Given the description of an element on the screen output the (x, y) to click on. 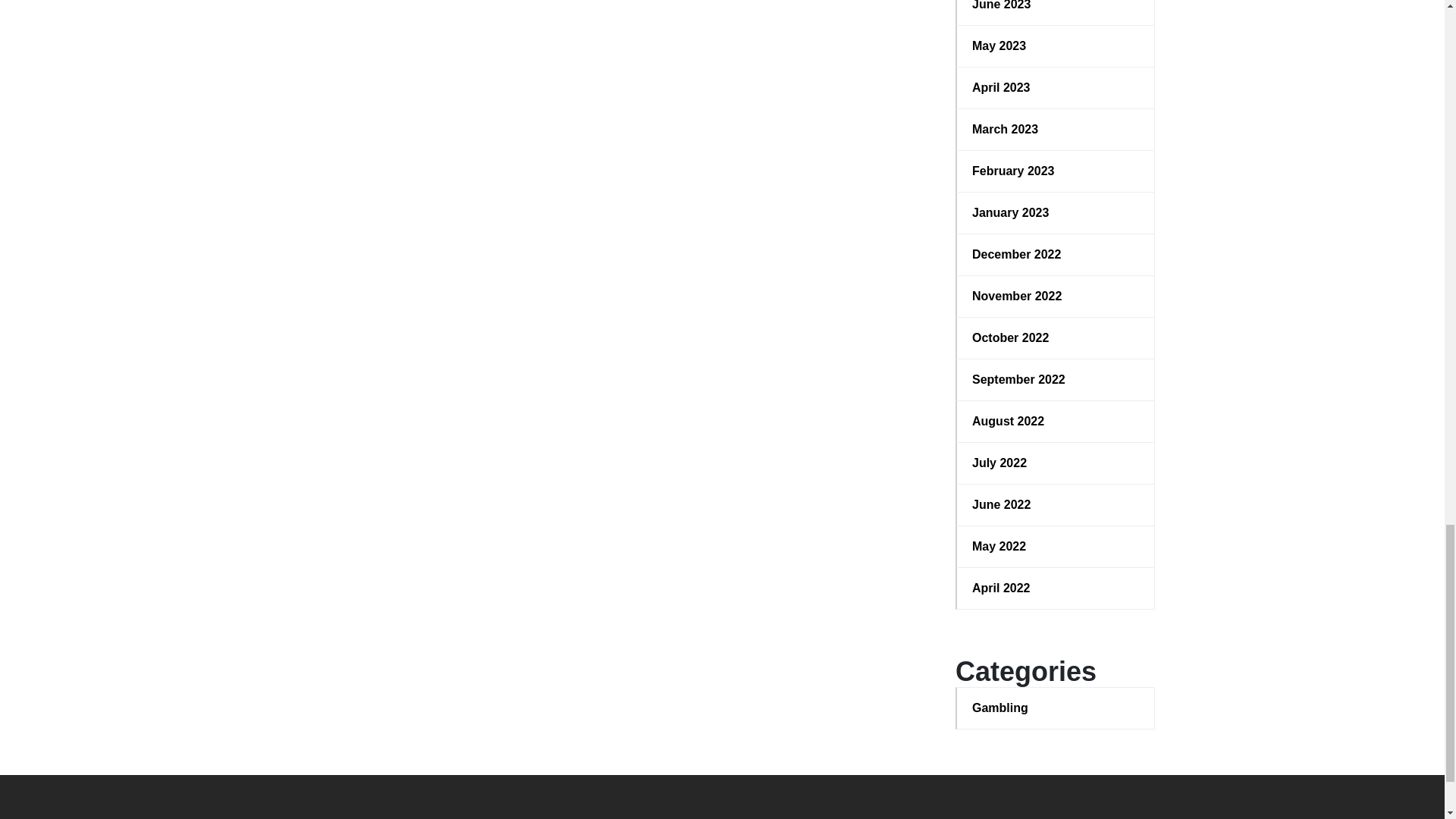
February 2023 (1055, 171)
May 2023 (1055, 45)
September 2022 (1055, 380)
October 2022 (1055, 338)
June 2023 (1055, 6)
January 2023 (1055, 212)
March 2023 (1055, 129)
August 2022 (1055, 421)
November 2022 (1055, 296)
April 2023 (1055, 87)
December 2022 (1055, 254)
